Given the description of an element on the screen output the (x, y) to click on. 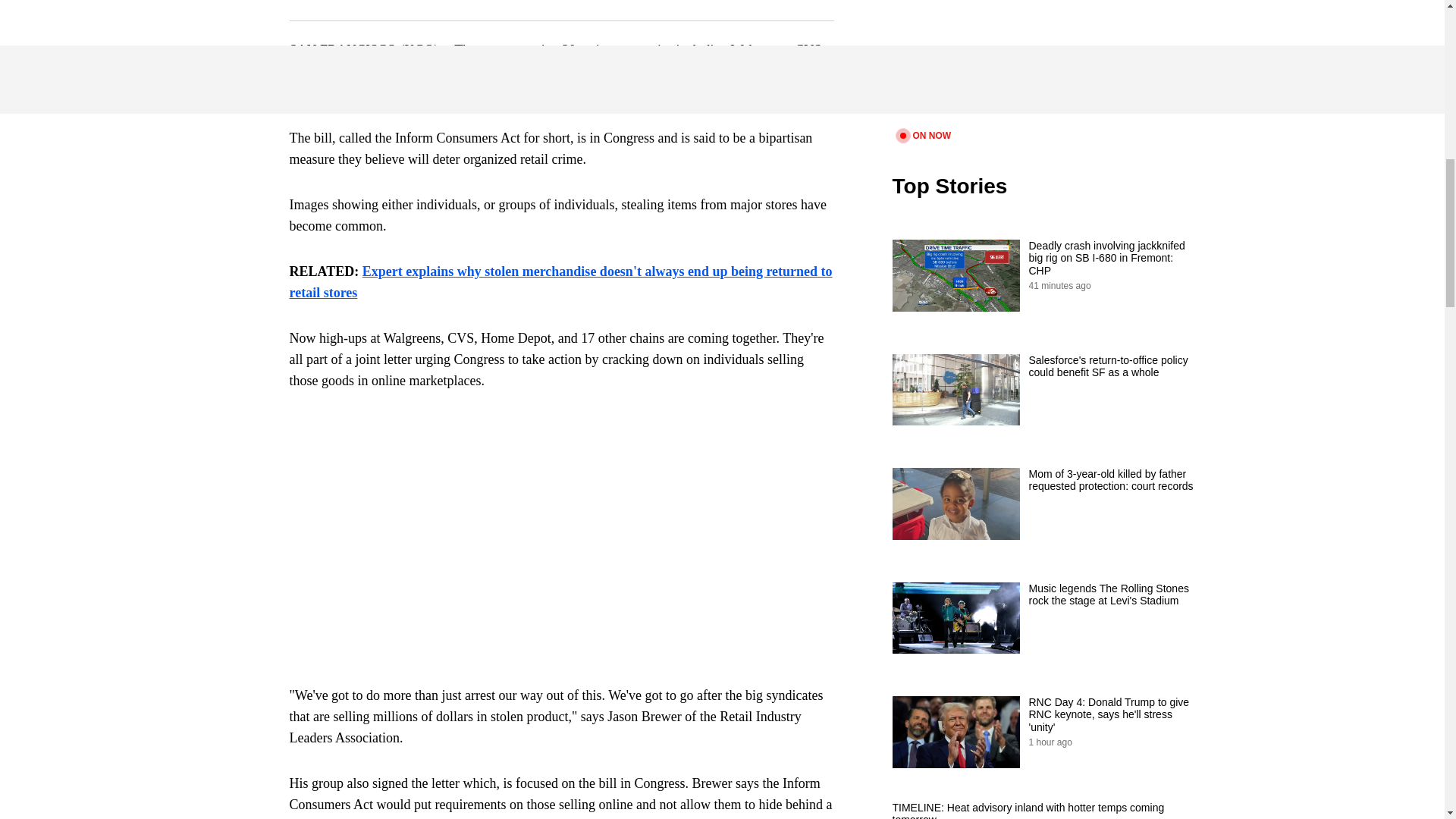
video.title (1043, 62)
